Given the description of an element on the screen output the (x, y) to click on. 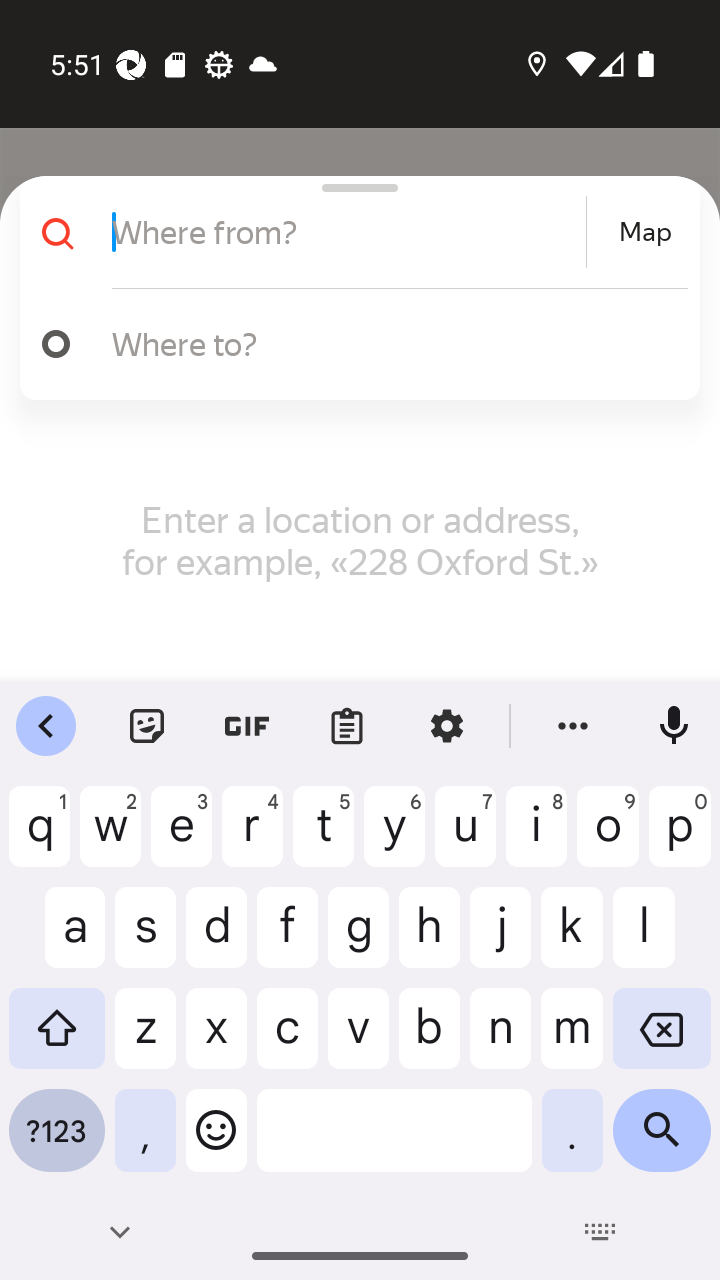
Where from? Map Map (352, 232)
Map (645, 232)
Where from? (346, 232)
Where to? (352, 343)
Where to? (390, 343)
